Given the description of an element on the screen output the (x, y) to click on. 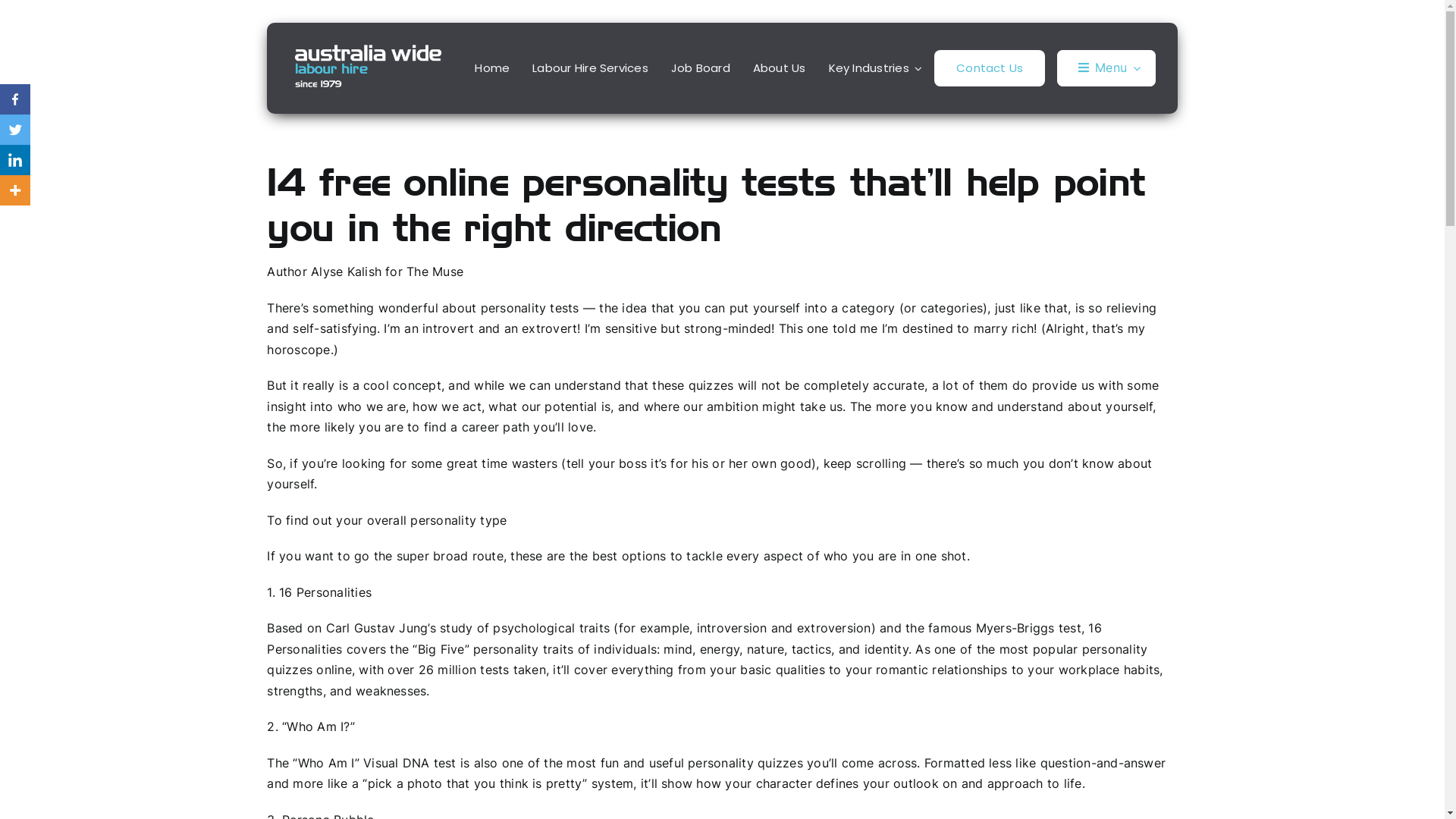
Key Industries Element type: text (875, 67)
16 Personalities Element type: text (325, 591)
Contact Us Element type: text (989, 68)
Job Board Element type: text (700, 67)
Linkedin Element type: hover (15, 159)
Twitter Element type: hover (15, 129)
About Us Element type: text (779, 67)
Facebook Element type: hover (15, 99)
Labour Hire Services Element type: text (590, 67)
Home Element type: text (491, 67)
Menu Element type: text (1106, 68)
More Element type: hover (15, 190)
